Given the description of an element on the screen output the (x, y) to click on. 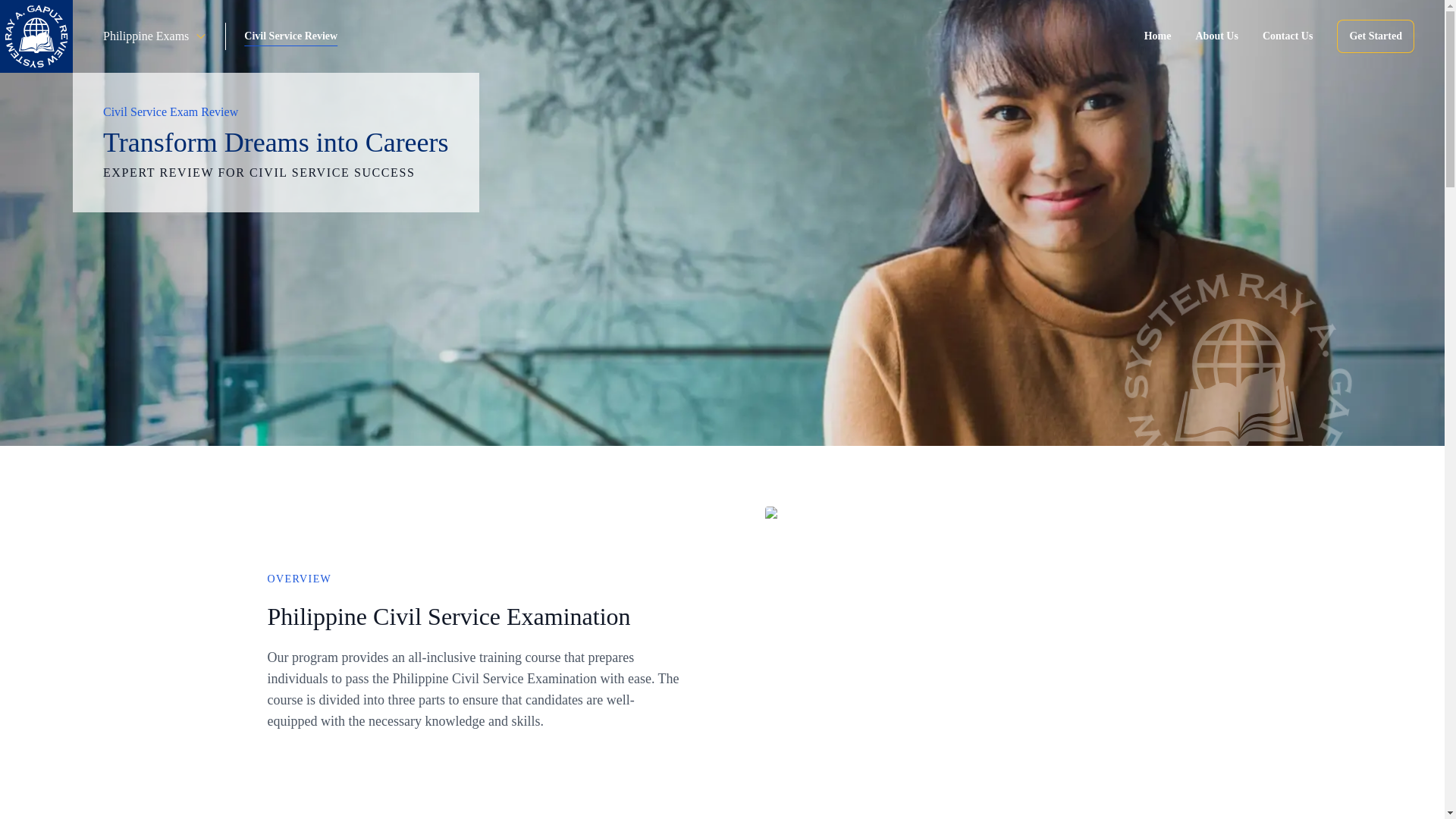
Home (1158, 36)
Ray A. Gapuz Review System (36, 36)
Contact Us (1287, 36)
About Us (1216, 36)
Get Started (1374, 36)
Civil Service Review (290, 35)
Philippine Exams (154, 36)
